Given the description of an element on the screen output the (x, y) to click on. 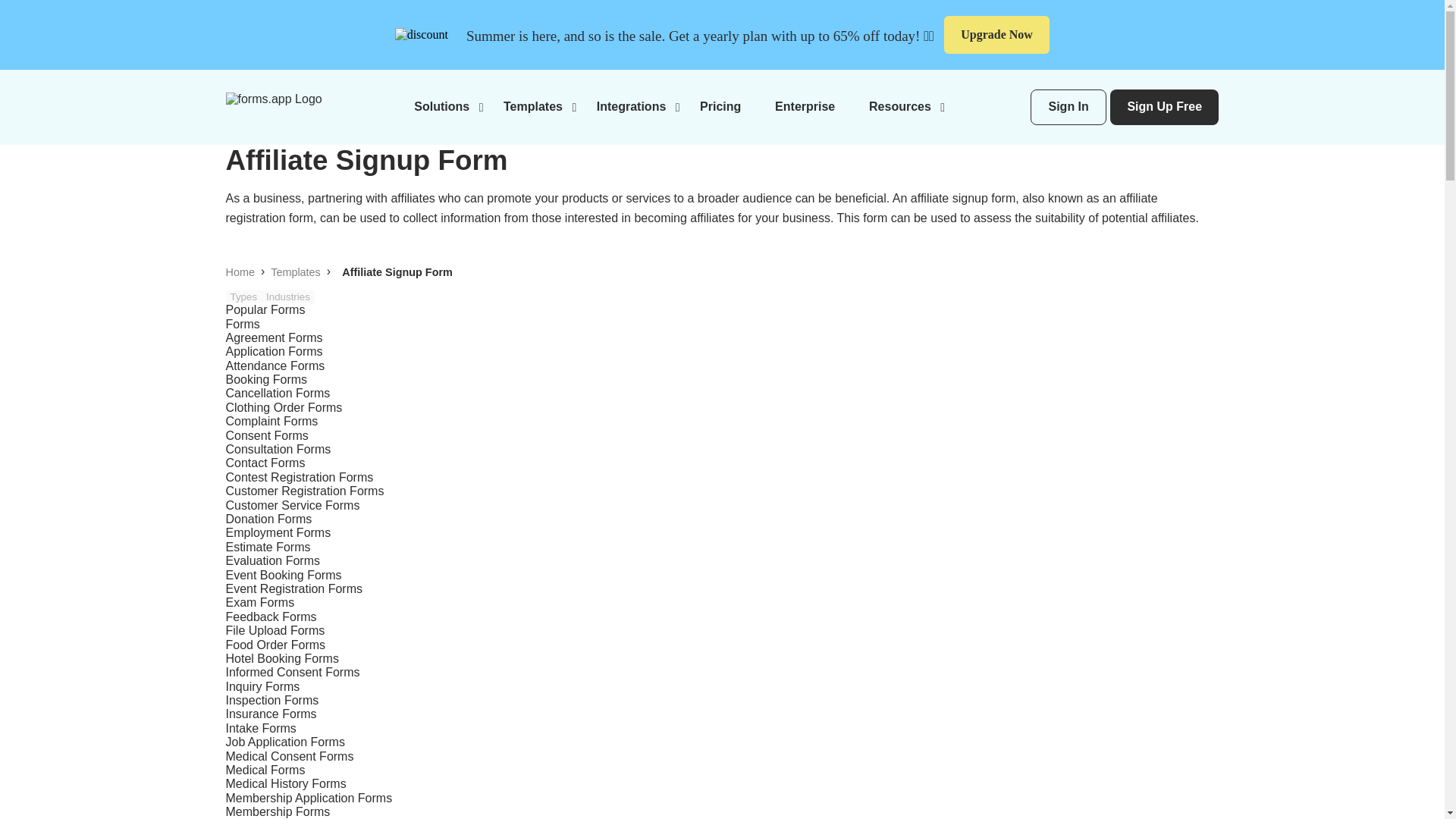
Enterprise (804, 106)
Sign Up Free (1163, 107)
Sign In (1068, 107)
Pricing (720, 106)
Upgrade Now (996, 34)
